Given the description of an element on the screen output the (x, y) to click on. 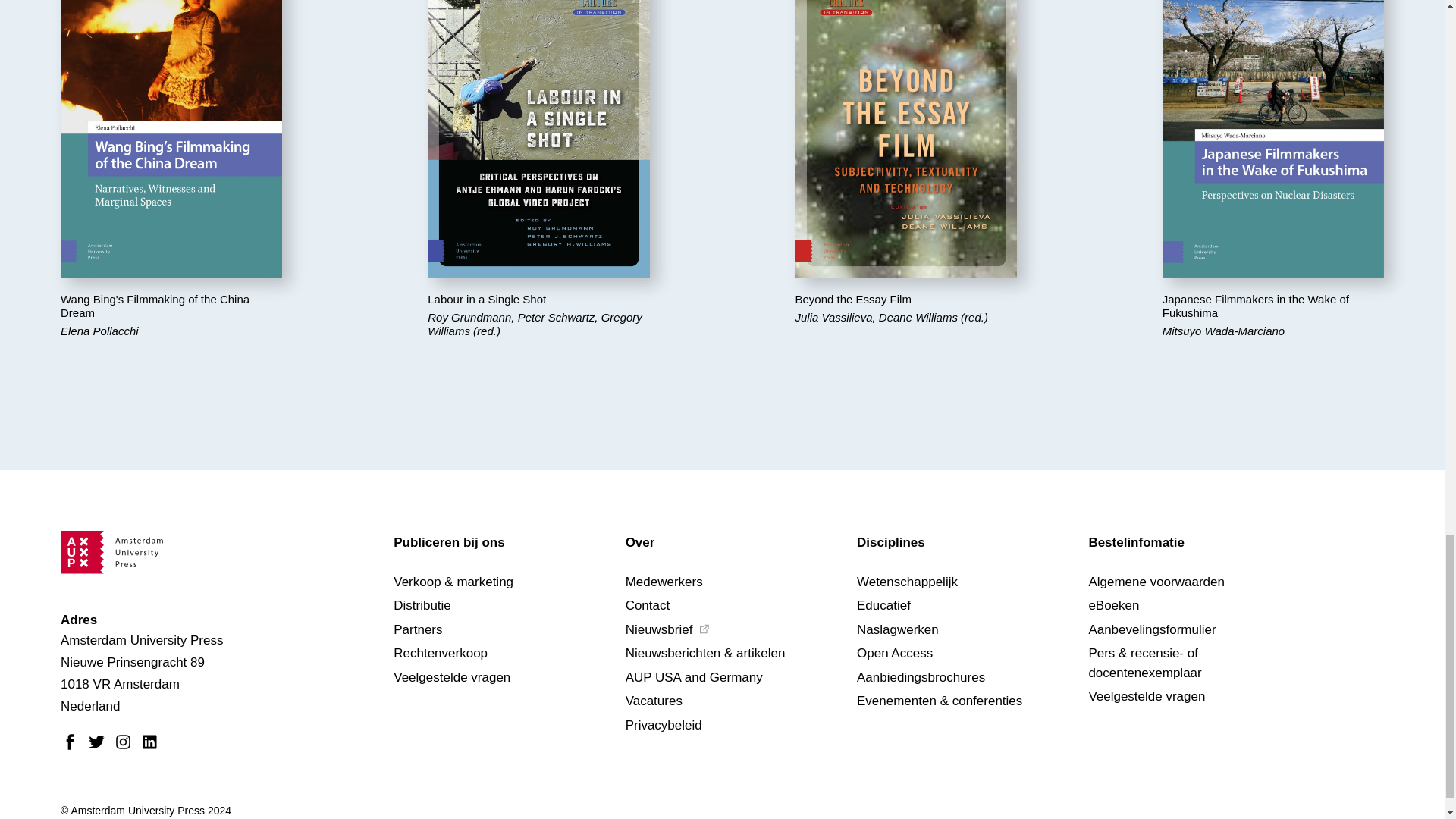
Nieuwsbrief (703, 628)
